Given the description of an element on the screen output the (x, y) to click on. 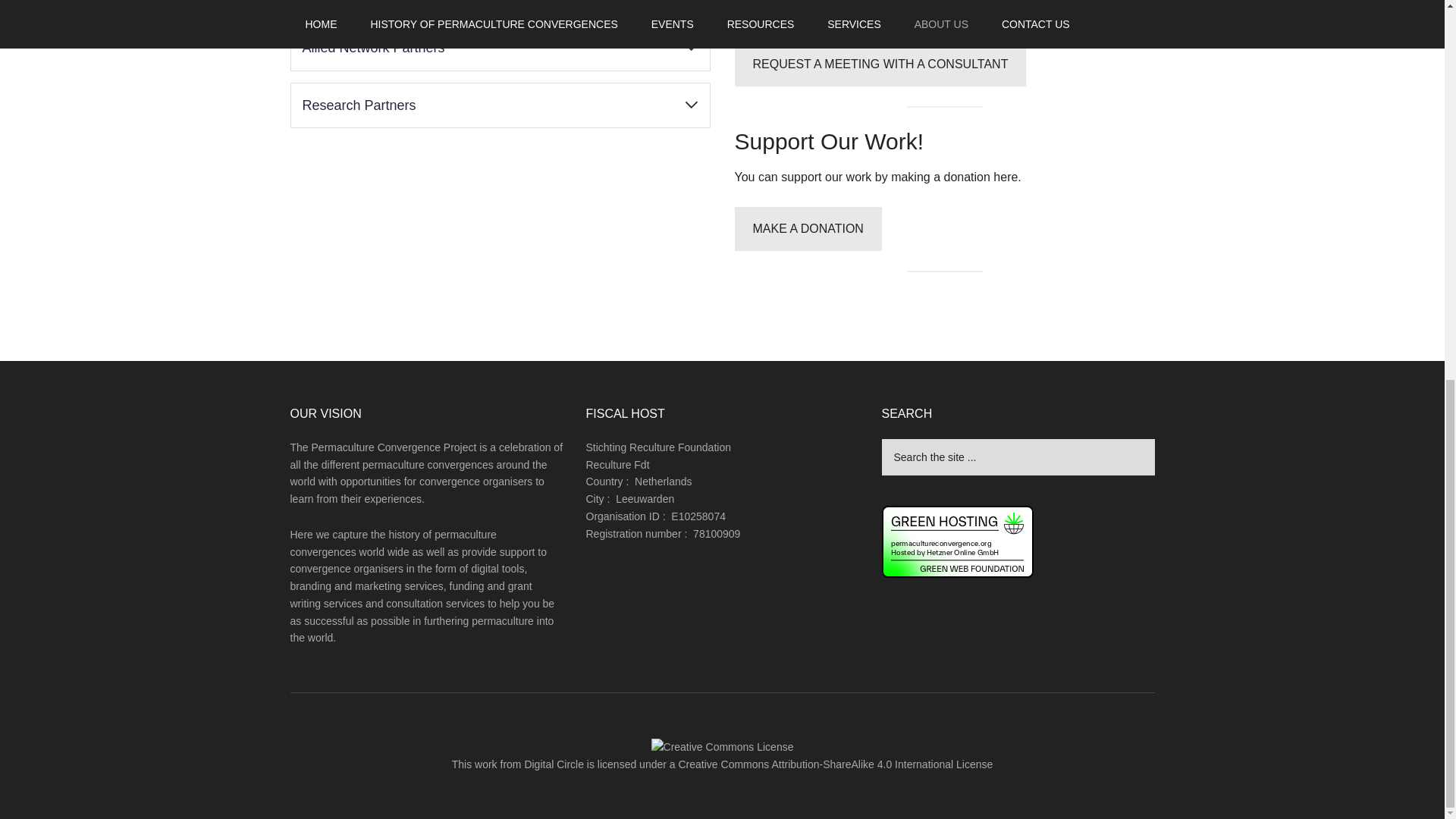
GitHub (377, 755)
LinkedIn (304, 755)
Mail (450, 755)
Medium (341, 755)
Link (414, 755)
REQUEST A MEETING WITH A CONSULTANT (879, 64)
Link (304, 326)
